Given the description of an element on the screen output the (x, y) to click on. 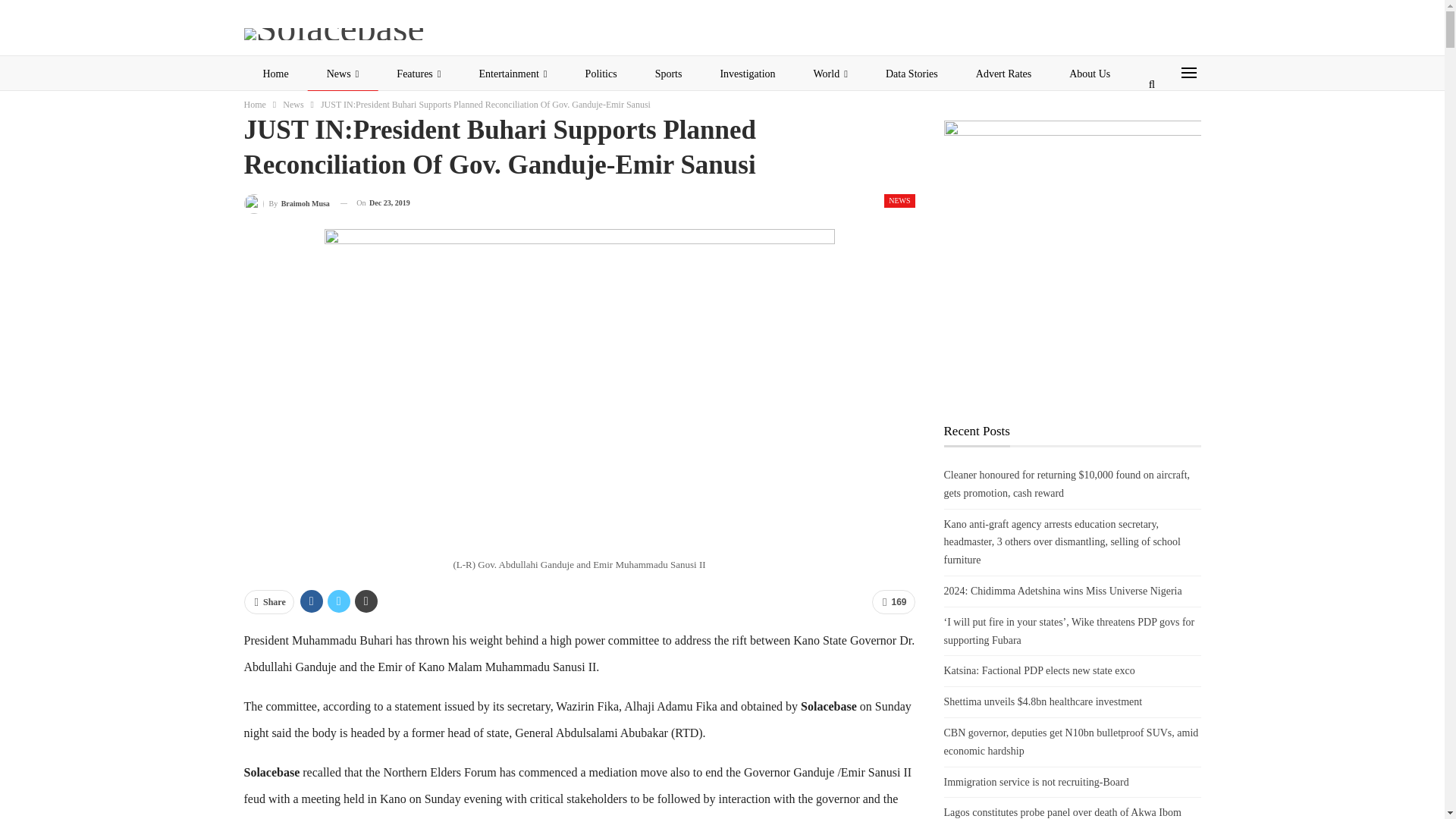
Data Stories (911, 74)
Home (275, 74)
By Braimoh Musa (287, 203)
Advert Rates (1002, 74)
About Us (1089, 74)
Entertainment (513, 74)
Sports (668, 74)
NEWS (898, 201)
Politics (601, 74)
Browse Author Articles (287, 203)
